Given the description of an element on the screen output the (x, y) to click on. 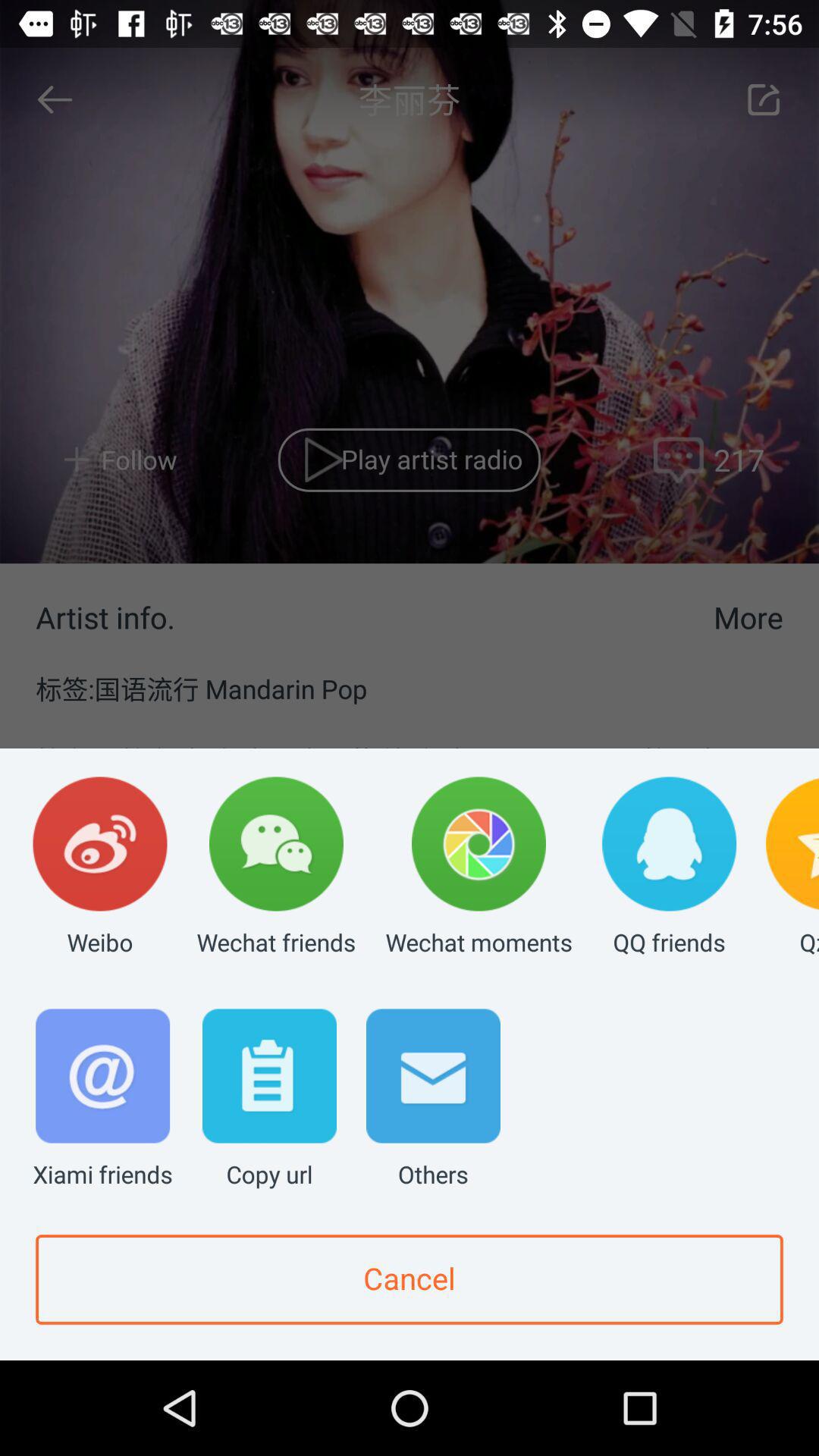
click the item above the cancel icon (269, 1099)
